Given the description of an element on the screen output the (x, y) to click on. 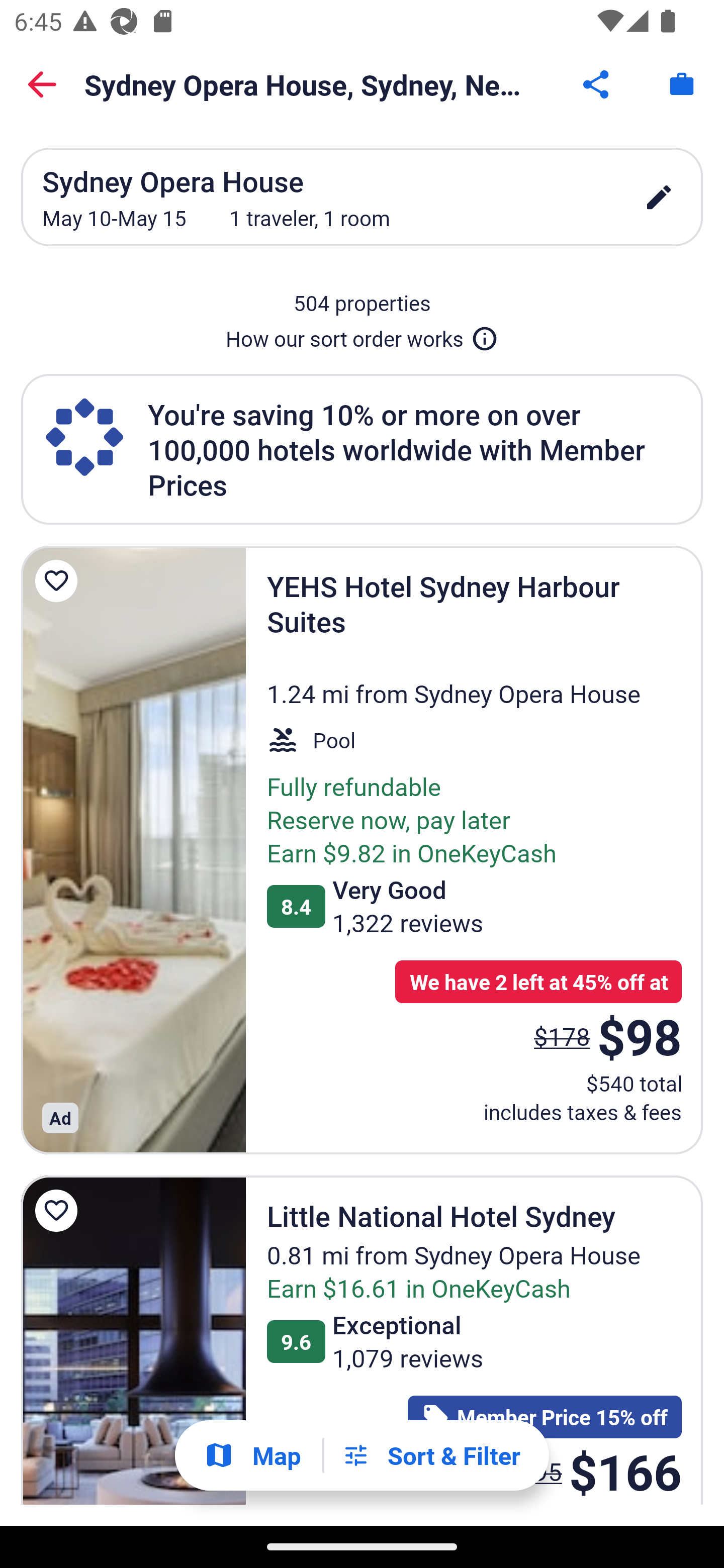
Back (42, 84)
Share Button (597, 84)
Trips. Button (681, 84)
How our sort order works (361, 334)
Save YEHS Hotel Sydney Harbour Suites to a trip (59, 580)
YEHS Hotel Sydney Harbour Suites (133, 849)
$178 The price was $178 (561, 1036)
Save Little National Hotel Sydney to a trip (59, 1210)
Little National Hotel Sydney (133, 1340)
Filters Sort & Filter Filters Button (430, 1455)
Show map Map Show map Button (252, 1455)
